Given the description of an element on the screen output the (x, y) to click on. 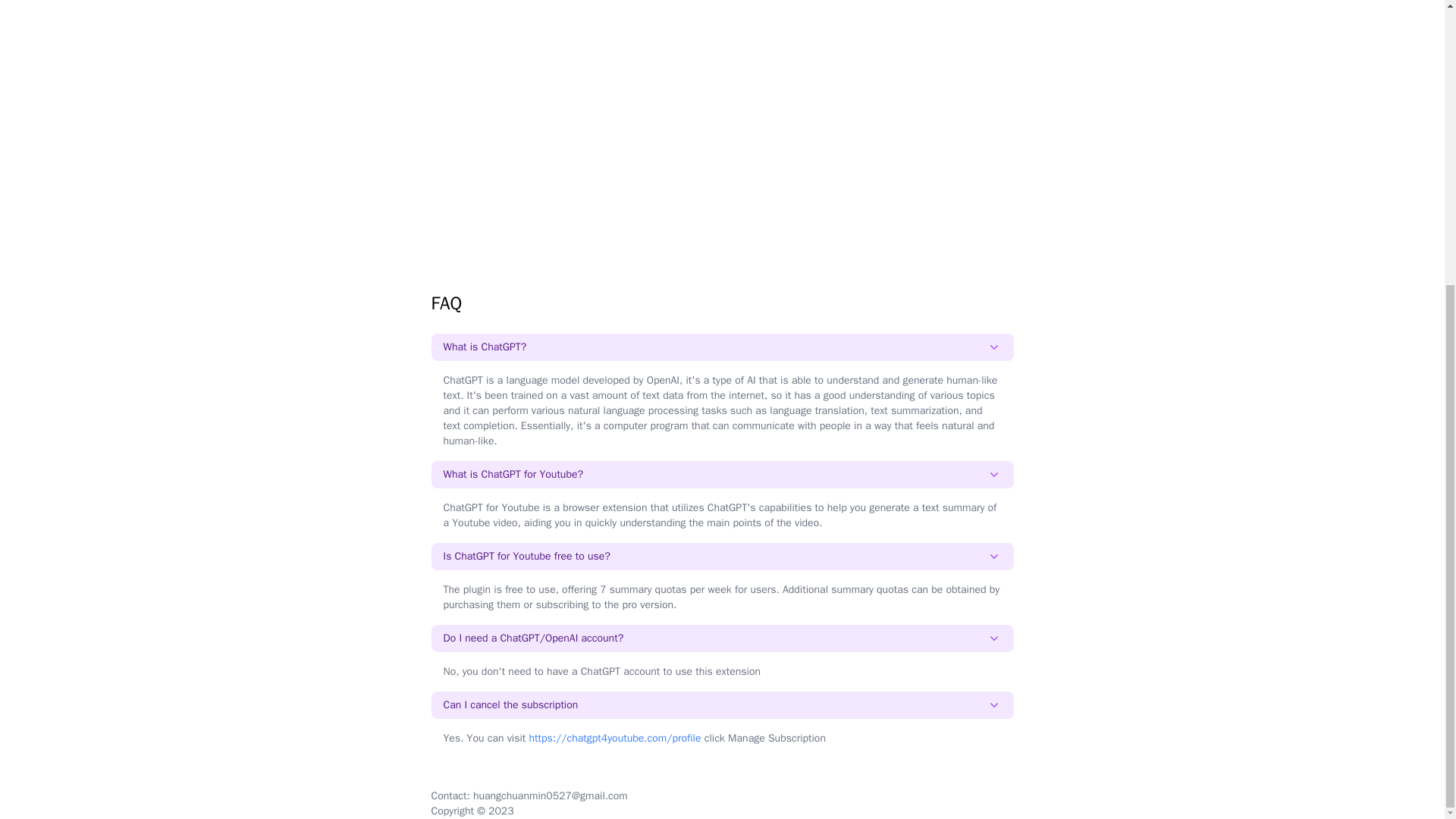
What is ChatGPT? (721, 347)
YouTube video player (721, 96)
Can I cancel the subscription (721, 705)
What is ChatGPT for Youtube? (721, 474)
Is ChatGPT for Youtube free to use? (721, 556)
